Given the description of an element on the screen output the (x, y) to click on. 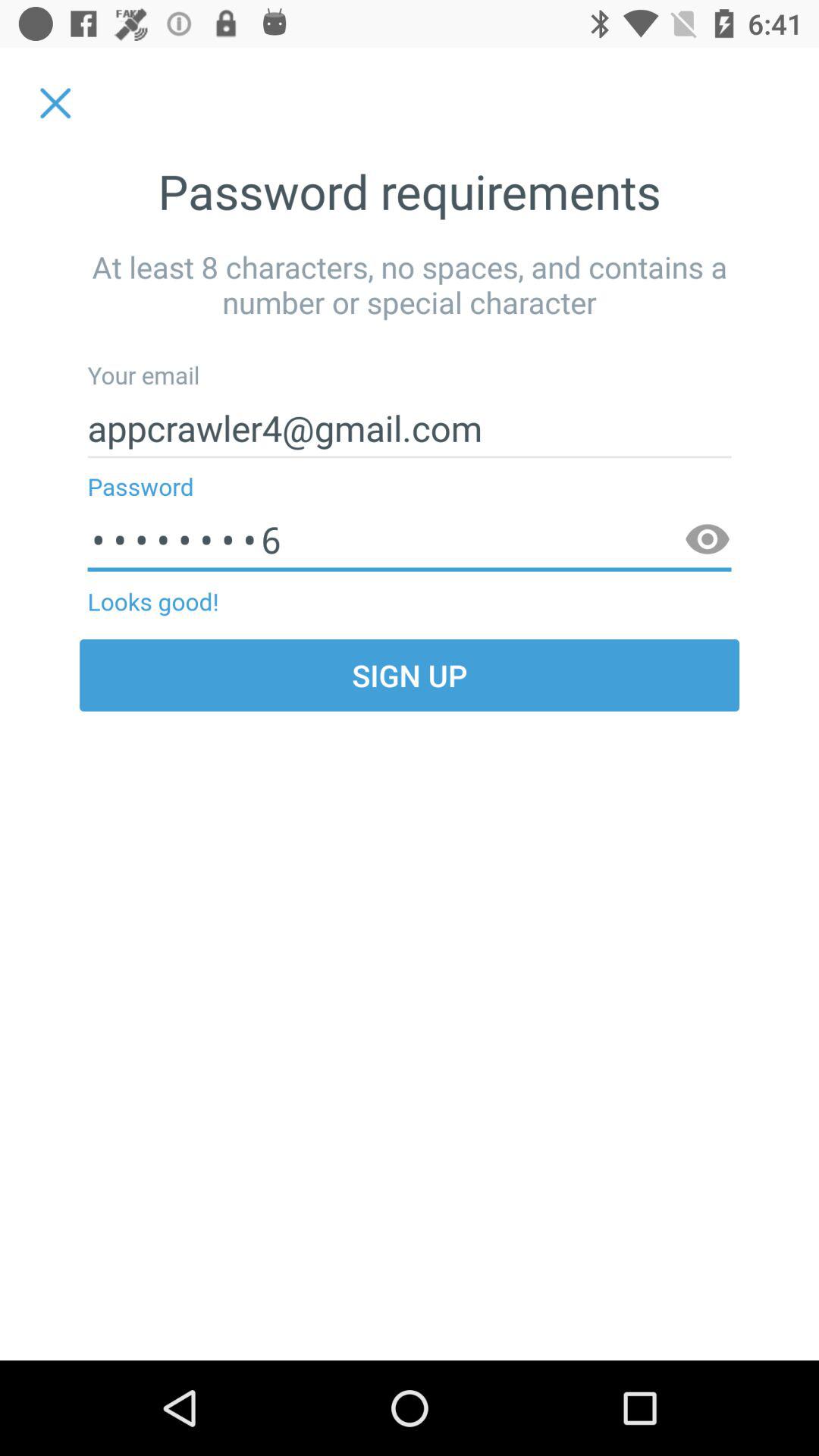
click the icon above the sign up (707, 539)
